Given the description of an element on the screen output the (x, y) to click on. 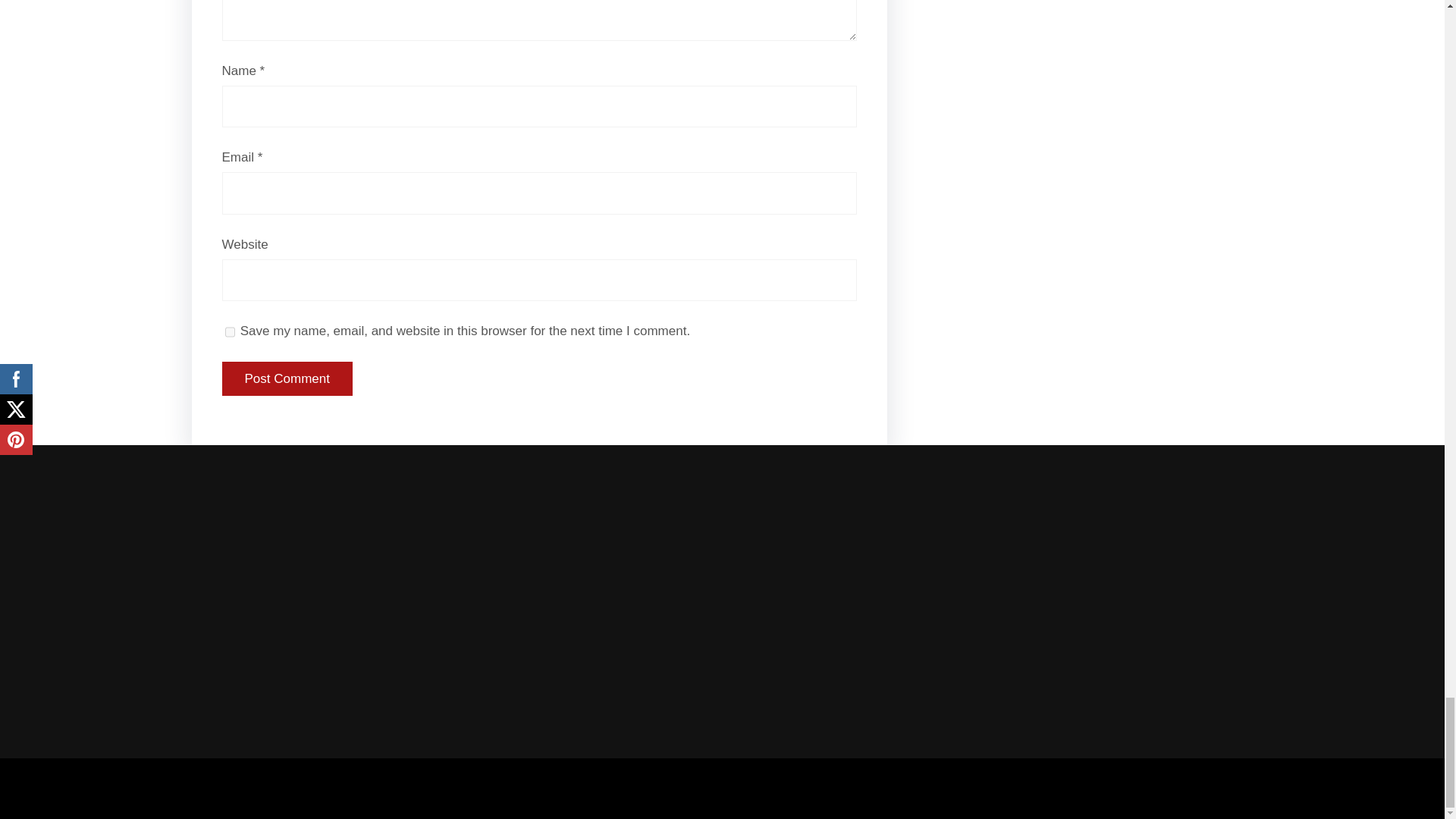
Post Comment (286, 378)
